Given the description of an element on the screen output the (x, y) to click on. 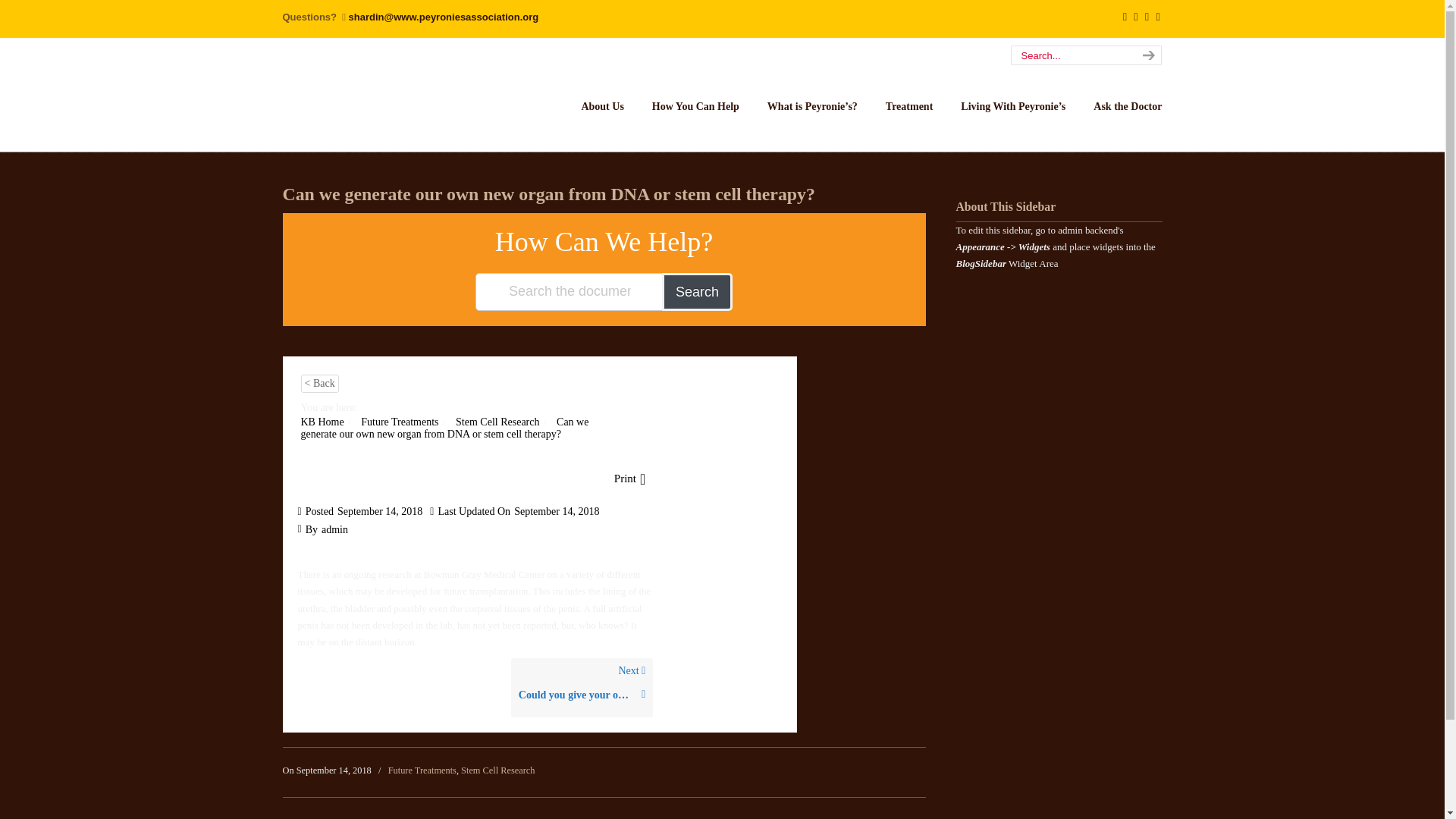
Future Treatments (399, 421)
KB Home (321, 421)
search (1146, 55)
Stem Cell Research (496, 421)
Search (697, 291)
How You Can Help (695, 106)
Search... (1070, 55)
Ask the Doctor (1127, 106)
About Us (602, 106)
search (1146, 55)
